Given the description of an element on the screen output the (x, y) to click on. 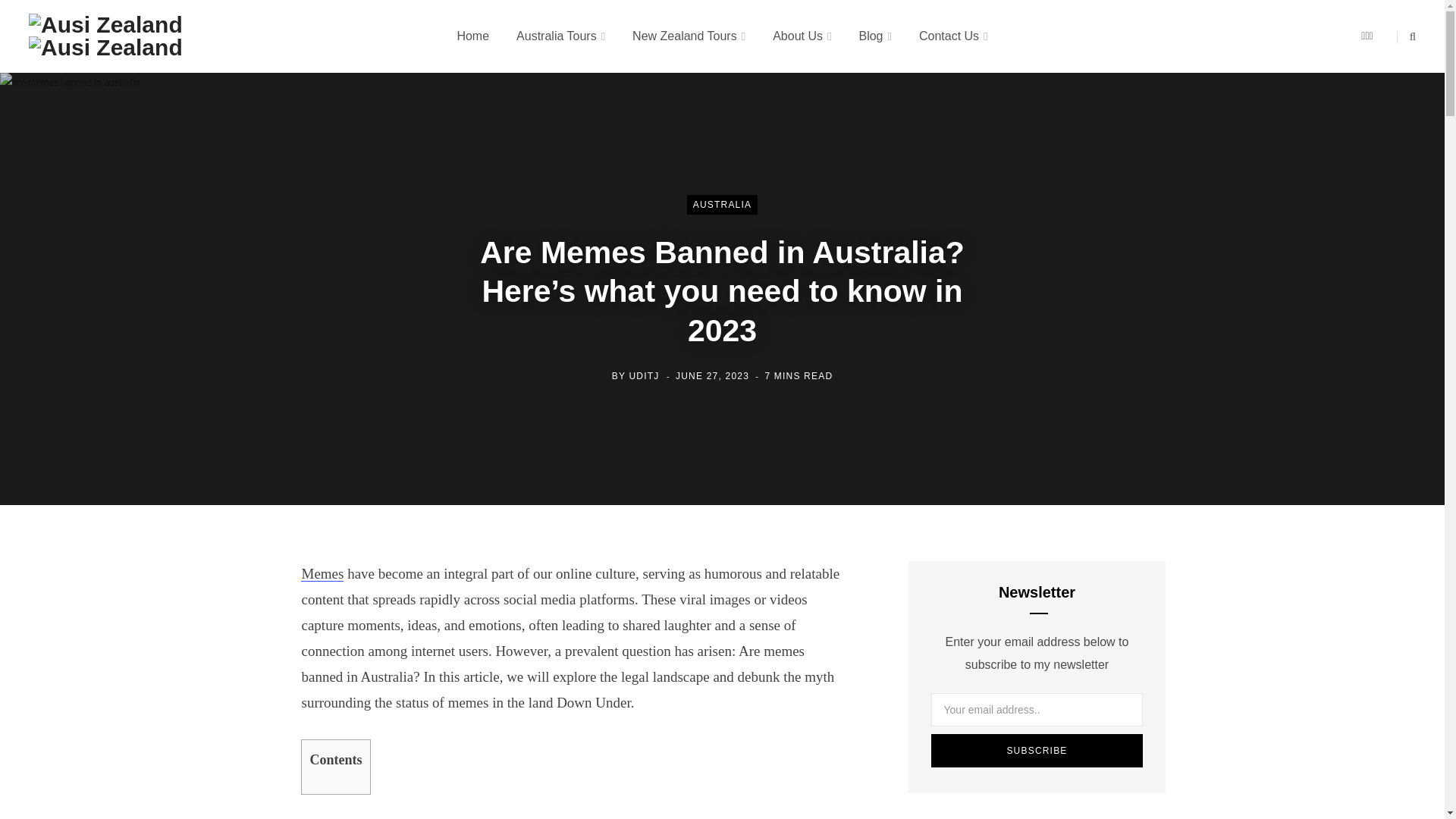
UDITJ (643, 376)
Posts by Uditj (643, 376)
Australia Tours (560, 36)
Subscribe (1036, 750)
Ausi Zealand (106, 35)
Contact Us (953, 36)
AUSTRALIA (722, 204)
About Us (801, 36)
New Zealand Tours (688, 36)
Memes (322, 573)
